Given the description of an element on the screen output the (x, y) to click on. 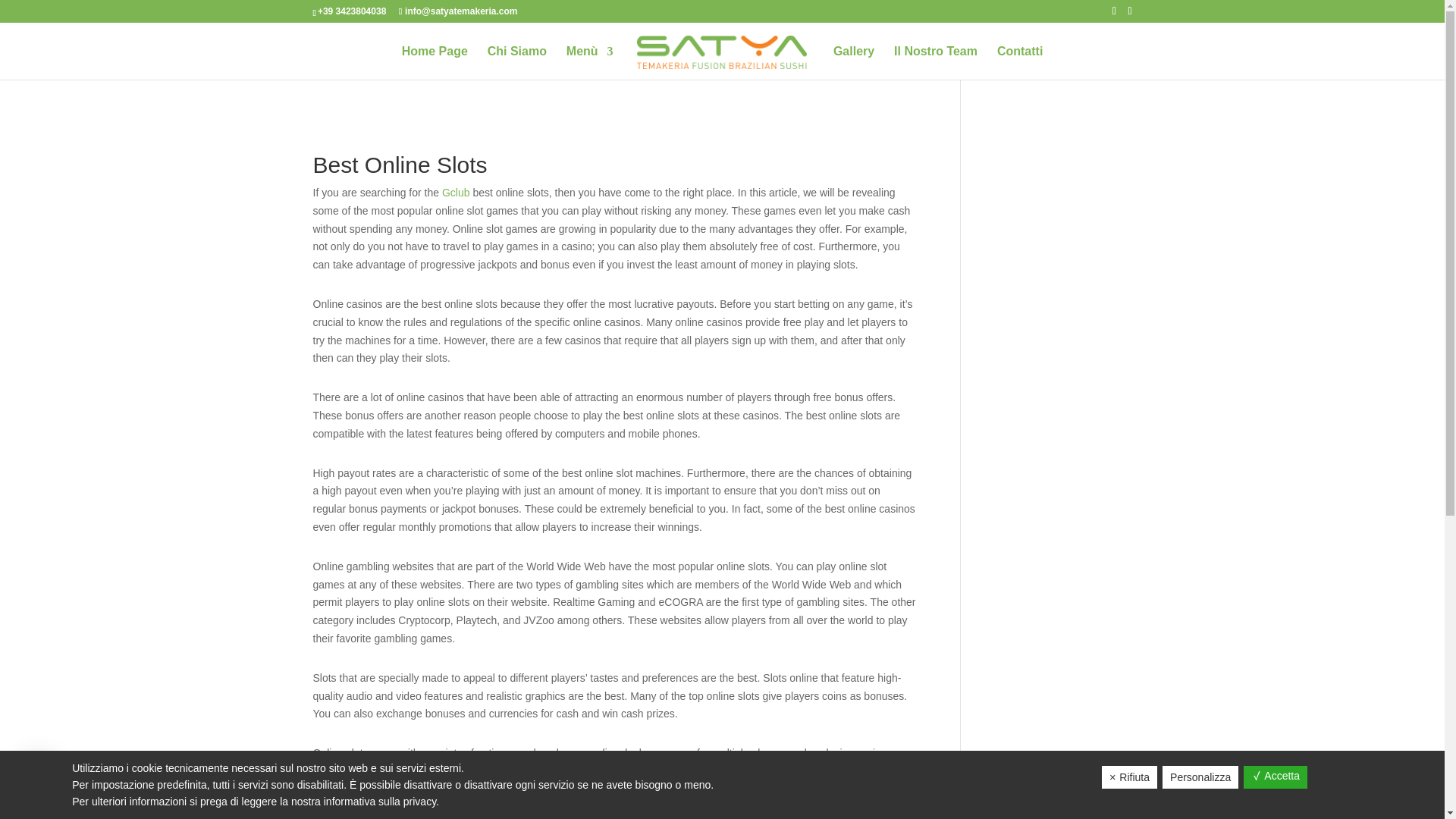
Il Nostro Team (934, 62)
Contatti (1019, 62)
Gallery (853, 62)
Gclub (456, 192)
Chi Siamo (517, 62)
Home Page (434, 62)
